Given the description of an element on the screen output the (x, y) to click on. 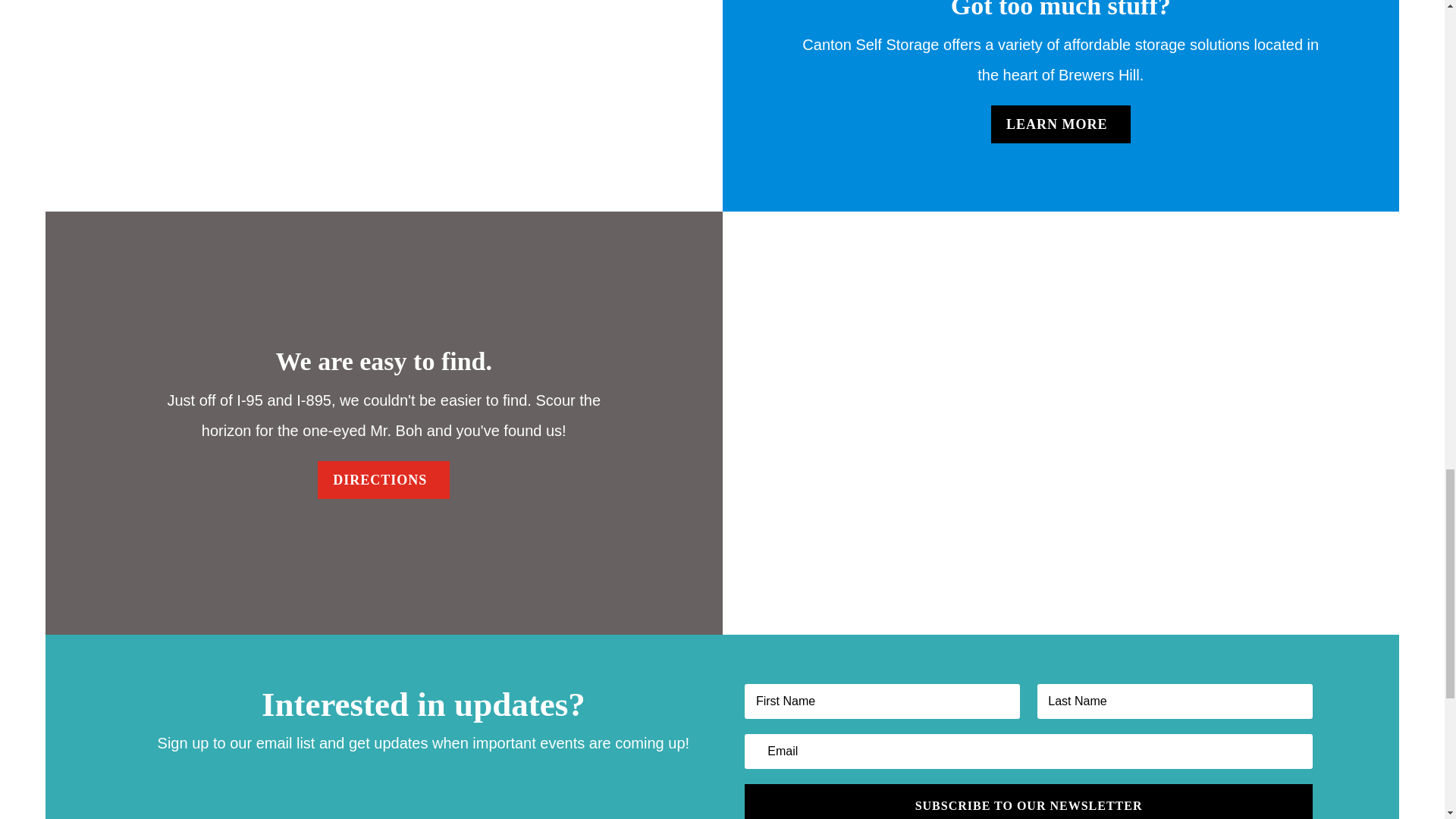
LEARN MORE (1061, 124)
SUBSCRIBE TO OUR NEWSLETTER (1027, 801)
DIRECTIONS (383, 480)
